Given the description of an element on the screen output the (x, y) to click on. 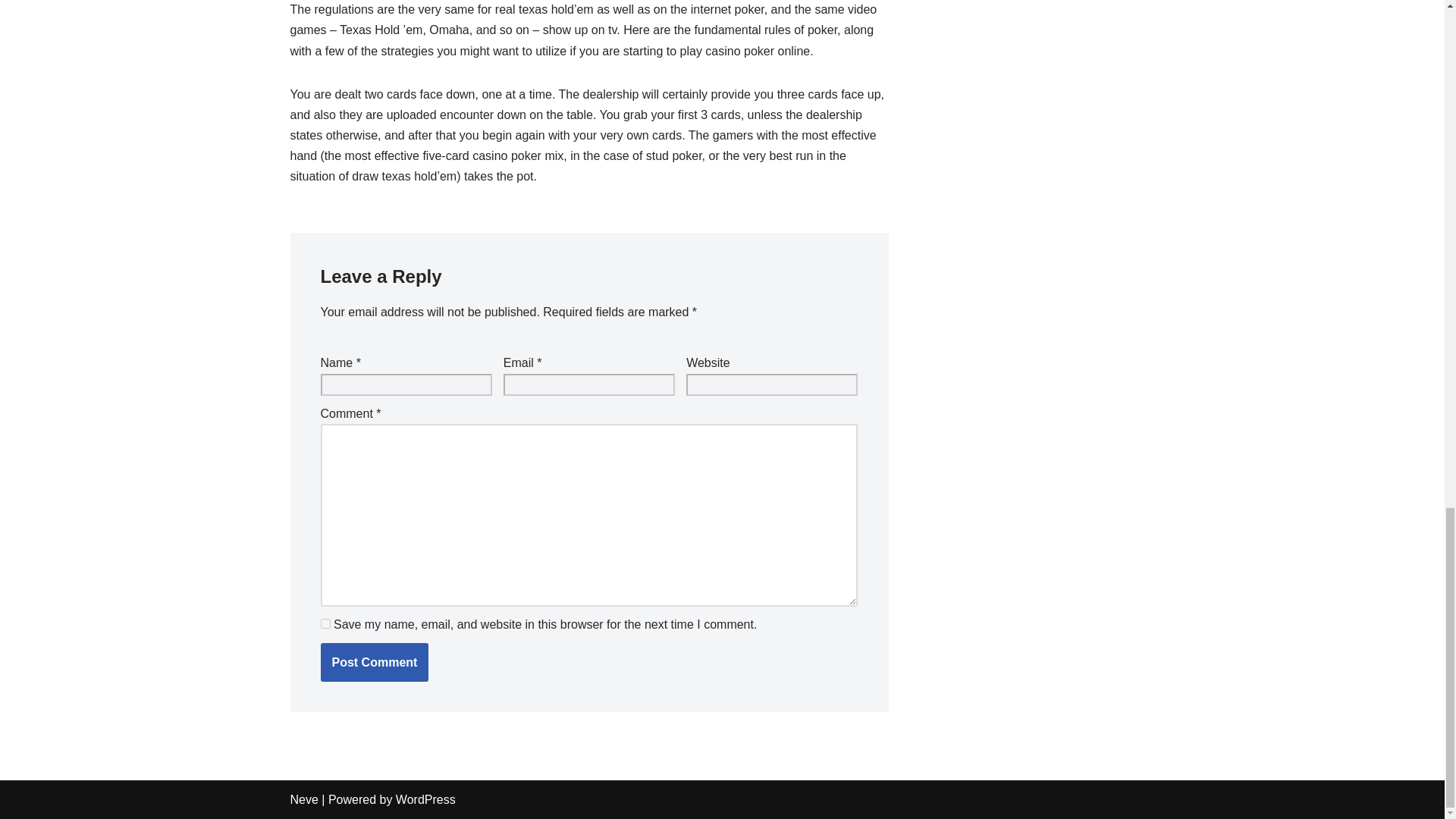
WordPress (425, 799)
yes (325, 623)
Neve (303, 799)
Post Comment (374, 662)
Post Comment (374, 662)
